Given the description of an element on the screen output the (x, y) to click on. 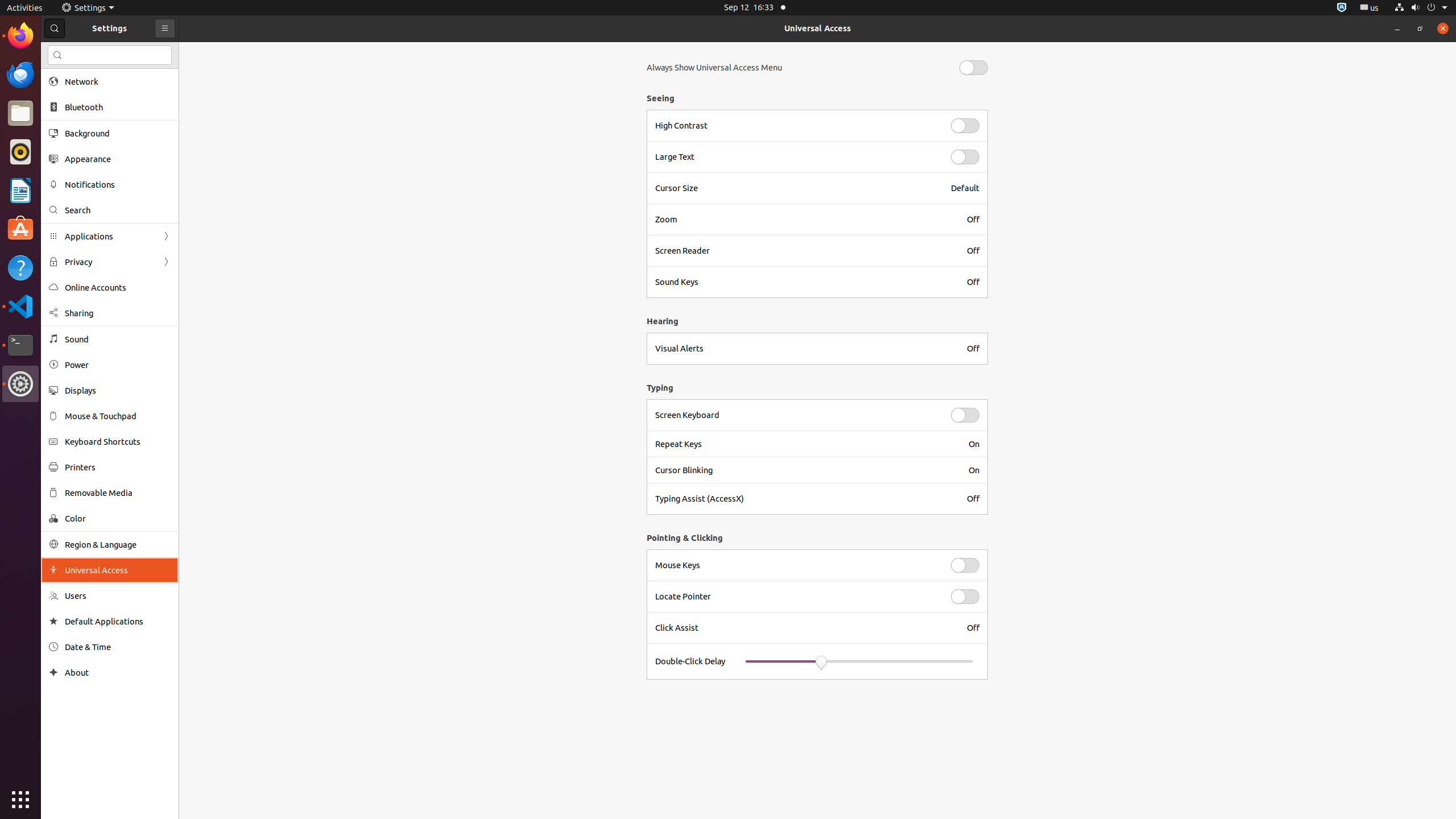
Locate Pointer Element type: label (796, 596)
Default Element type: label (964, 187)
Mouse & Touchpad Element type: label (117, 415)
Primary Menu Element type: toggle-button (164, 28)
